Given the description of an element on the screen output the (x, y) to click on. 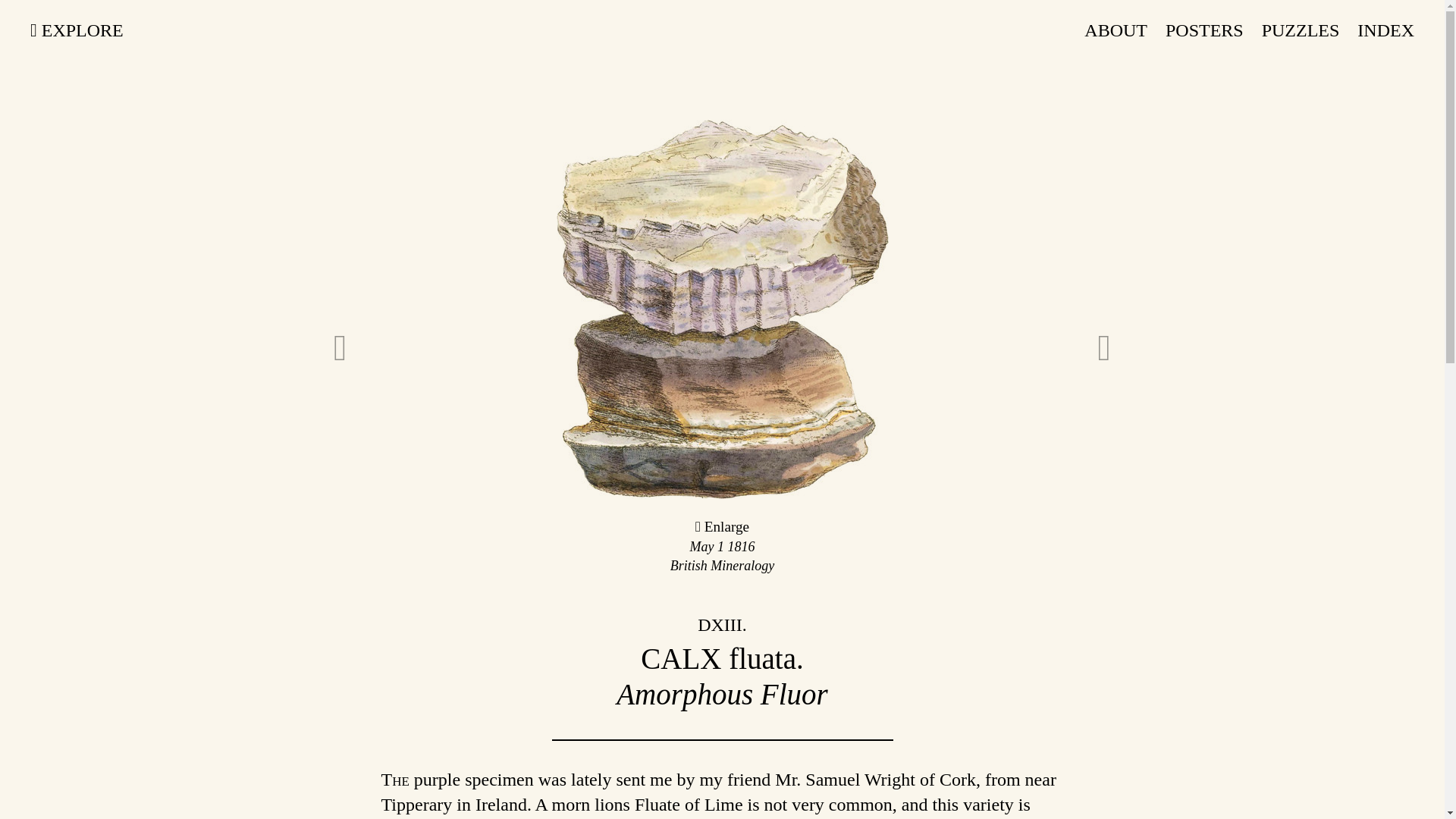
ABOUT (1115, 30)
EXPLORE (76, 31)
INDEX (1384, 30)
POSTERS (1204, 30)
PUZZLES (1300, 30)
